Given the description of an element on the screen output the (x, y) to click on. 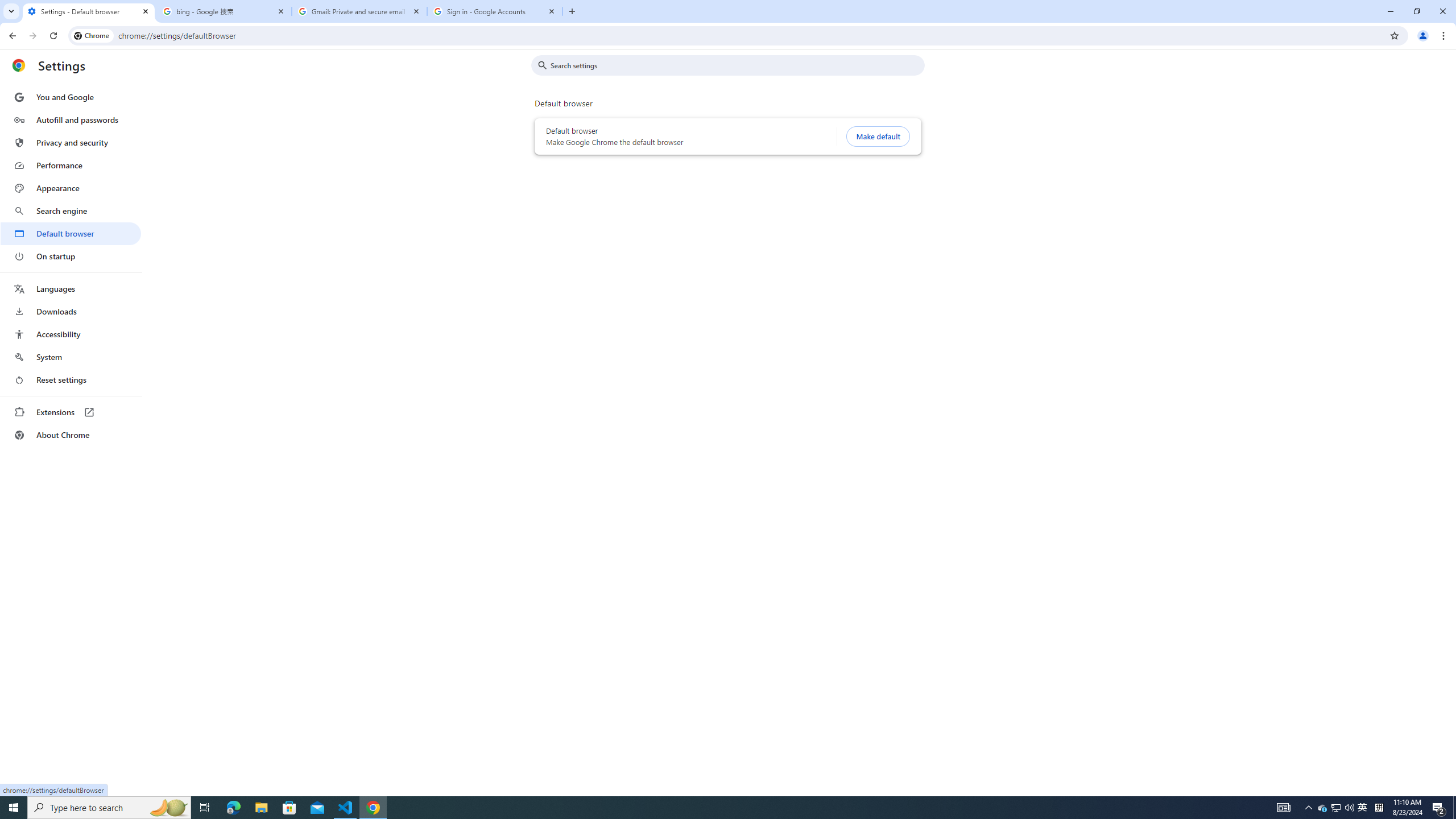
Reset settings (70, 379)
You and Google (70, 96)
Privacy and security (70, 142)
Make default (877, 136)
Accessibility (70, 333)
Sign in - Google Accounts (494, 11)
AutomationID: menu (71, 265)
